Given the description of an element on the screen output the (x, y) to click on. 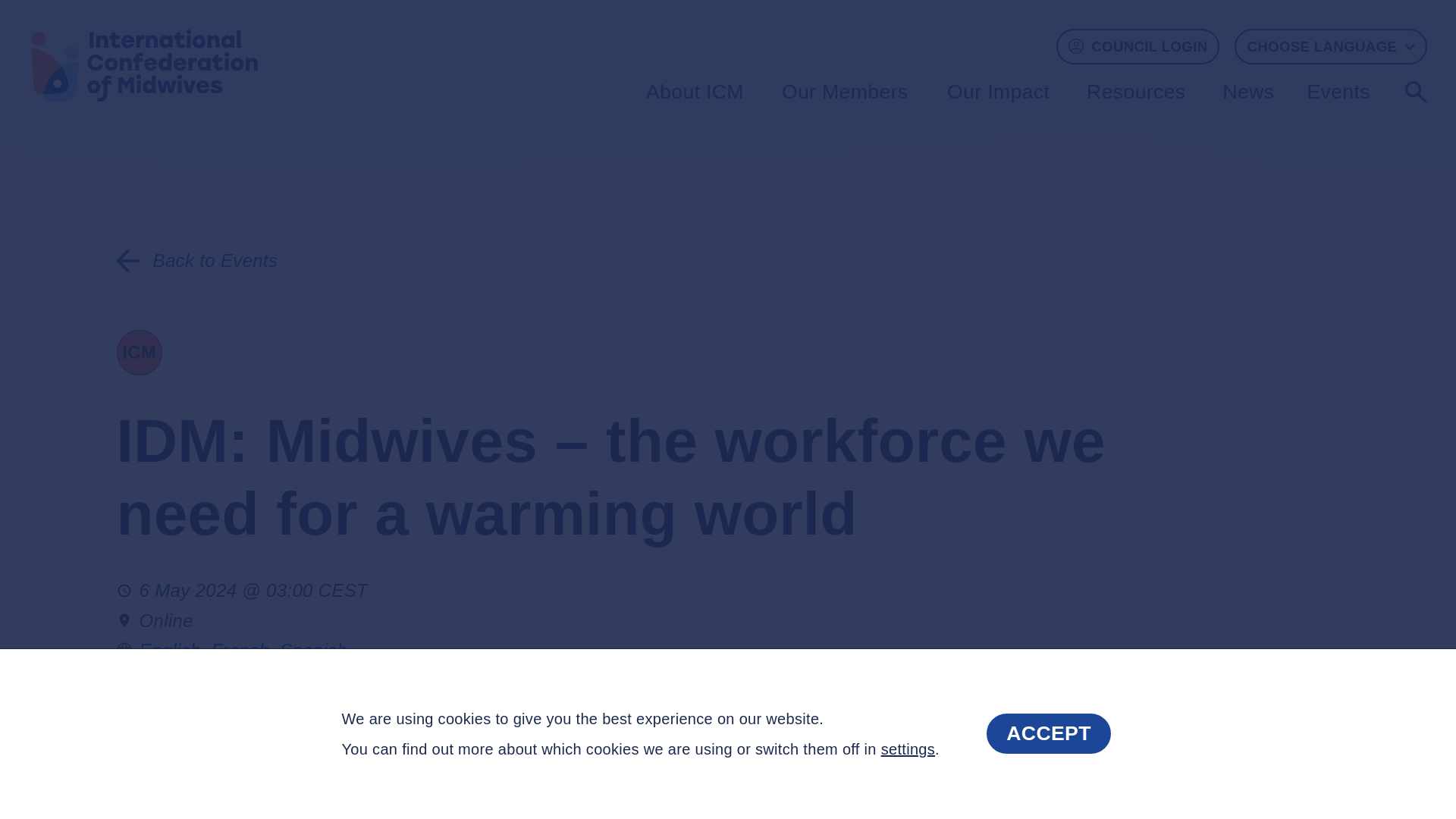
Our Impact (1001, 91)
Events (1348, 91)
About ICM (698, 91)
Our Members (849, 91)
Resources (1139, 91)
News (1249, 91)
About ICM (698, 91)
COUNCIL LOGIN (1138, 46)
Events (1348, 91)
News (1249, 91)
Our Impact (1001, 91)
Our Members (849, 91)
Resources (1139, 91)
CHOOSE LANGUAGE (1330, 46)
